Given the description of an element on the screen output the (x, y) to click on. 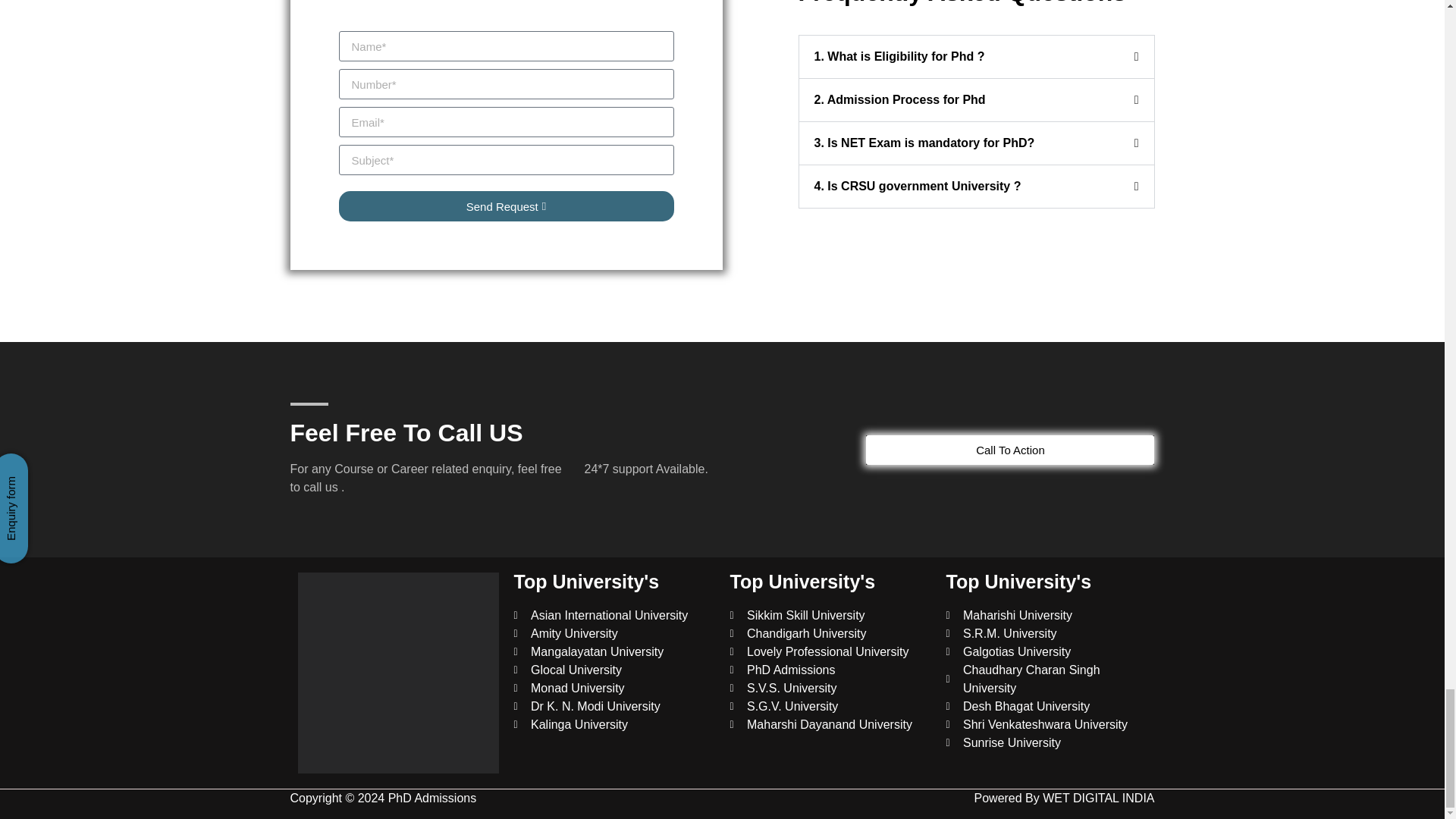
Send Request (504, 205)
1. What is Eligibility for Phd ? (899, 56)
Mangalayatan University (613, 651)
Amity University (613, 633)
3. Is NET Exam is mandatory for PhD? (924, 142)
Kalinga University (613, 724)
Asian International University (613, 615)
Glocal University (613, 669)
Call To Action (1010, 449)
2. Admission Process for Phd (899, 99)
